Given the description of an element on the screen output the (x, y) to click on. 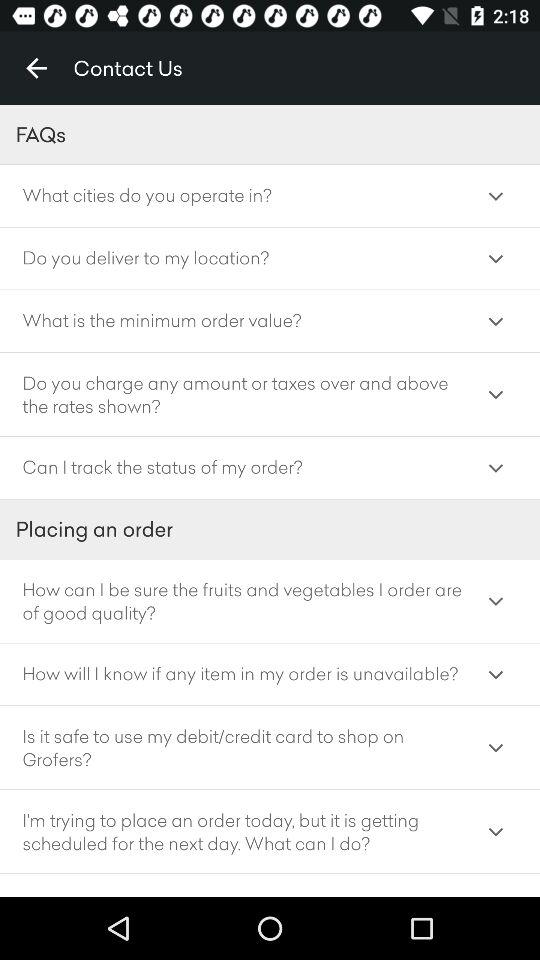
choose item to the left of contact us item (36, 67)
